Given the description of an element on the screen output the (x, y) to click on. 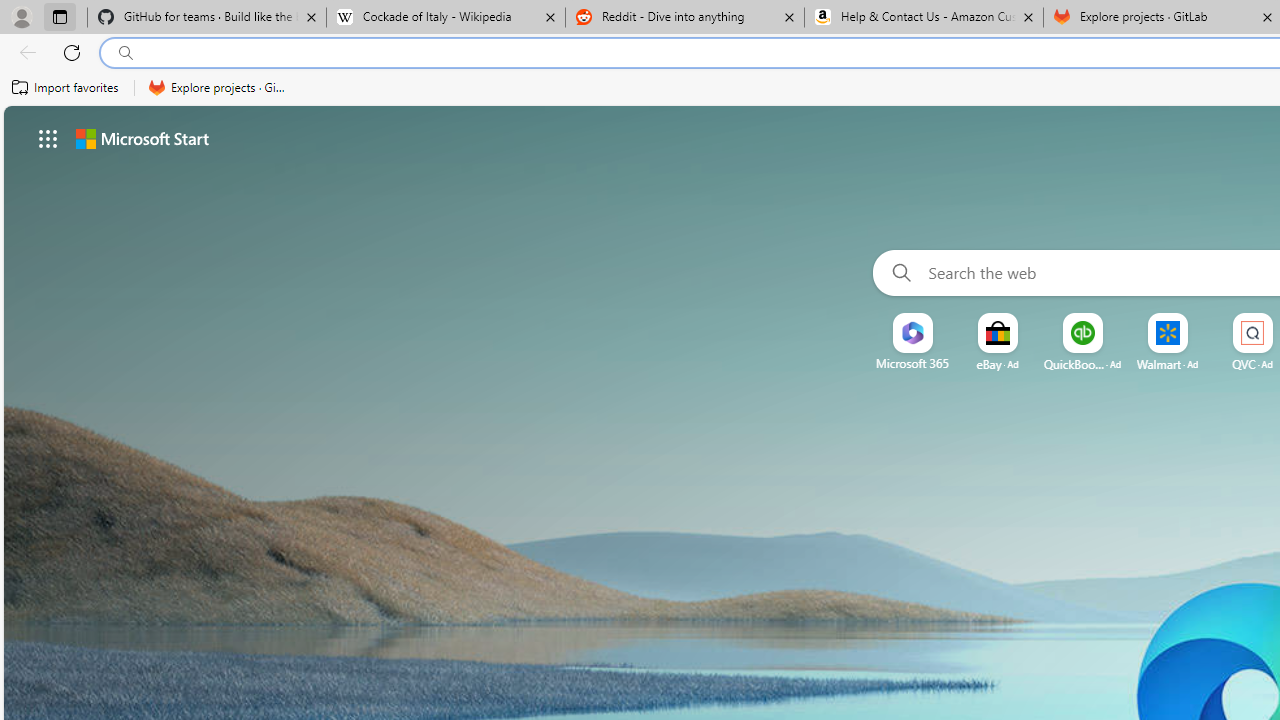
Cockade of Italy - Wikipedia (445, 17)
Search icon (125, 53)
To get missing image descriptions, open the context menu. (912, 333)
Import favorites (65, 88)
App launcher (47, 138)
